Given the description of an element on the screen output the (x, y) to click on. 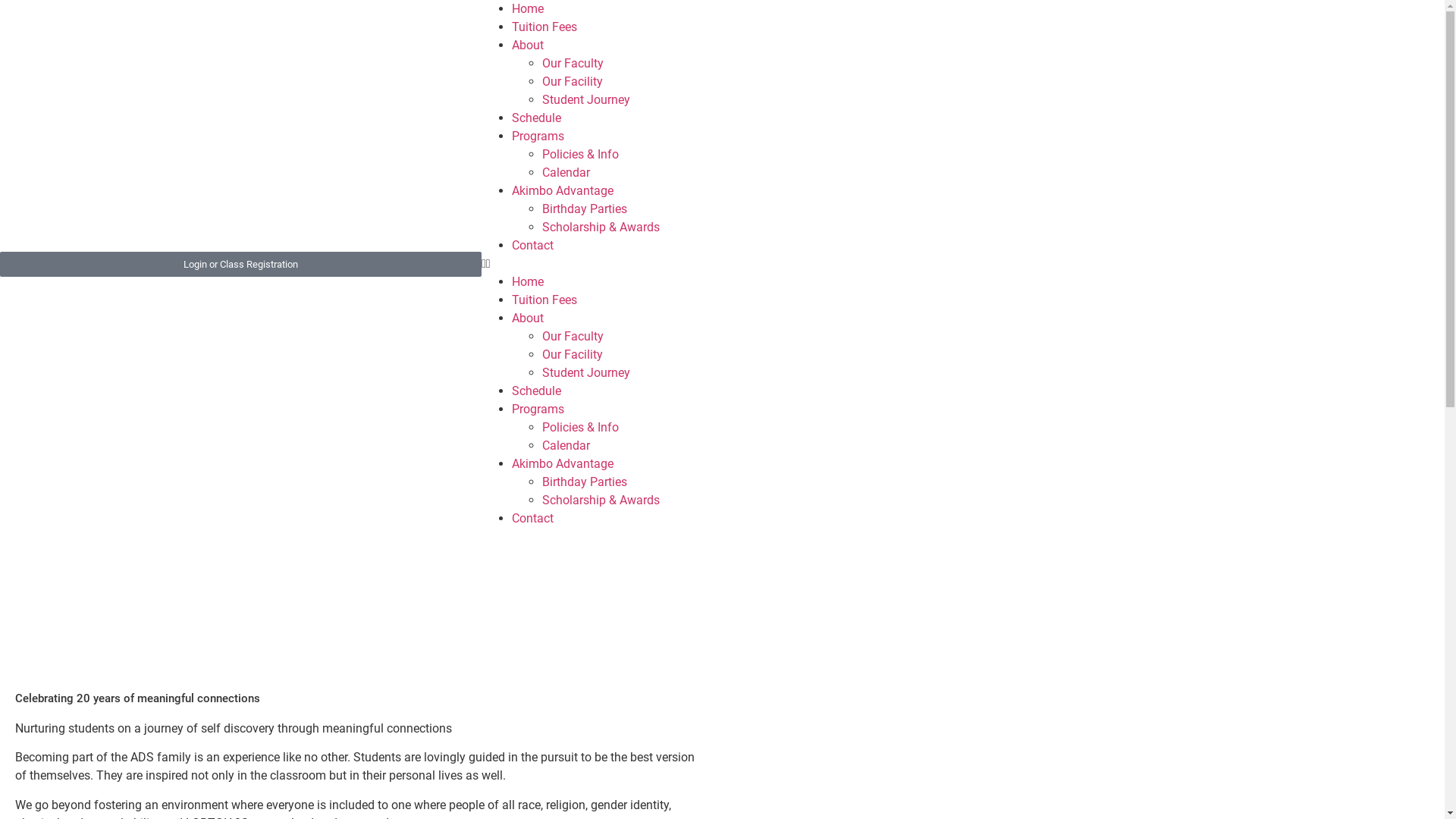
Scholarship & Awards Element type: text (600, 226)
Our Facility Element type: text (572, 354)
Schedule Element type: text (536, 390)
Akimbo Advantage Element type: text (562, 463)
Programs Element type: text (537, 408)
Contact Element type: text (532, 518)
Our Faculty Element type: text (572, 336)
About Element type: text (527, 317)
Contact Element type: text (532, 245)
Schedule Element type: text (536, 117)
About Element type: text (527, 44)
Tuition Fees Element type: text (544, 299)
Calendar Element type: text (565, 172)
Student Journey Element type: text (586, 99)
Calendar Element type: text (565, 445)
Login or Class Registration Element type: text (240, 263)
Home Element type: text (527, 8)
Policies & Info Element type: text (580, 154)
Our Faculty Element type: text (572, 63)
Birthday Parties Element type: text (584, 208)
Our Facility Element type: text (572, 81)
Akimbo Advantage Element type: text (562, 190)
Home Element type: text (527, 281)
Programs Element type: text (537, 135)
Scholarship & Awards Element type: text (600, 499)
Student Journey Element type: text (586, 372)
Policies & Info Element type: text (580, 427)
Tuition Fees Element type: text (544, 26)
Birthday Parties Element type: text (584, 481)
